Given the description of an element on the screen output the (x, y) to click on. 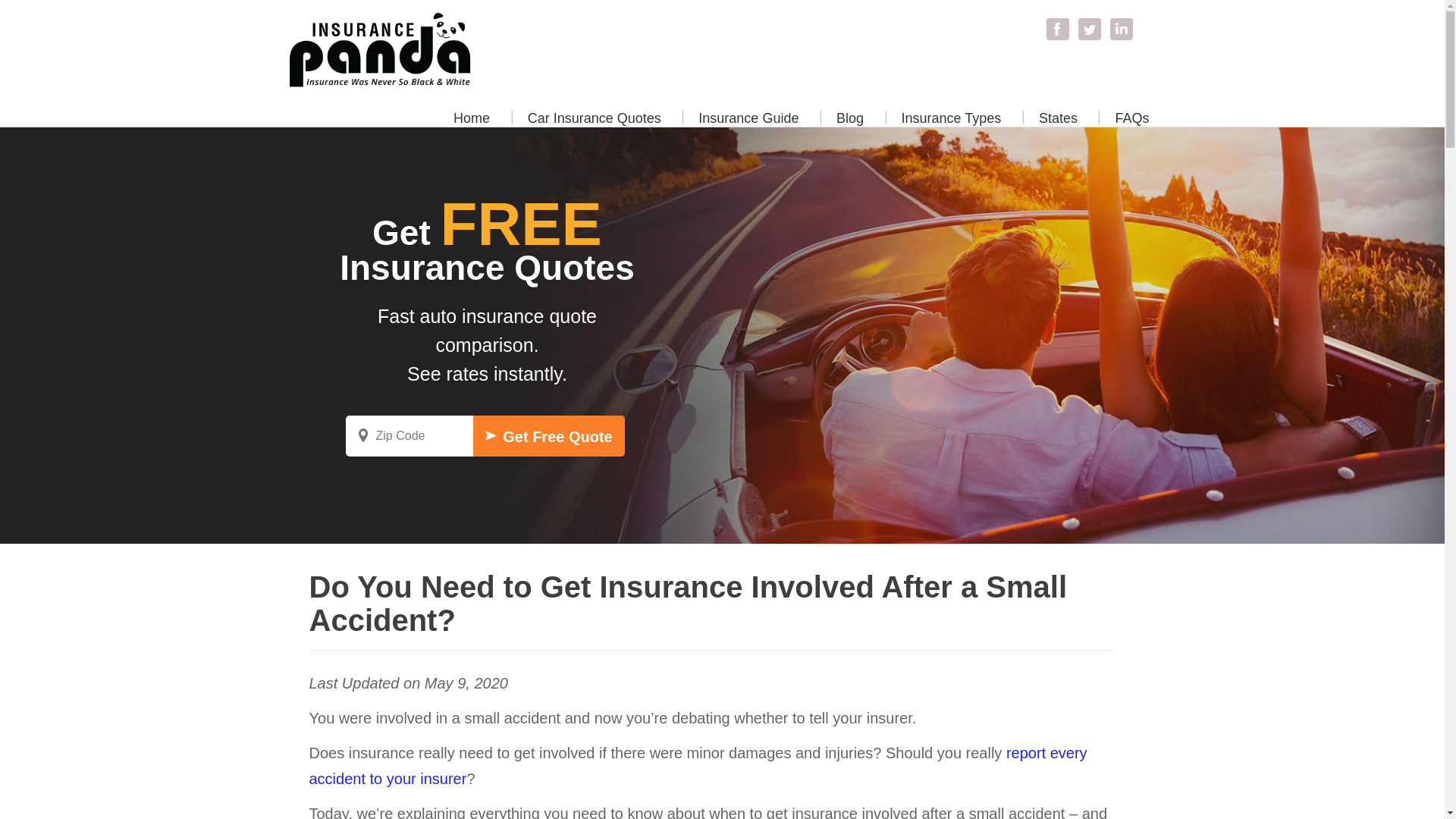
Home (471, 121)
Twitter (1088, 27)
FAQs (1131, 121)
Facebook (1056, 27)
Get Free Quote (548, 435)
Insurance Types (951, 121)
report every accident to your insurer (697, 765)
Car Insurance Quotes (594, 121)
States (1058, 121)
Linkedin (1120, 27)
